Given the description of an element on the screen output the (x, y) to click on. 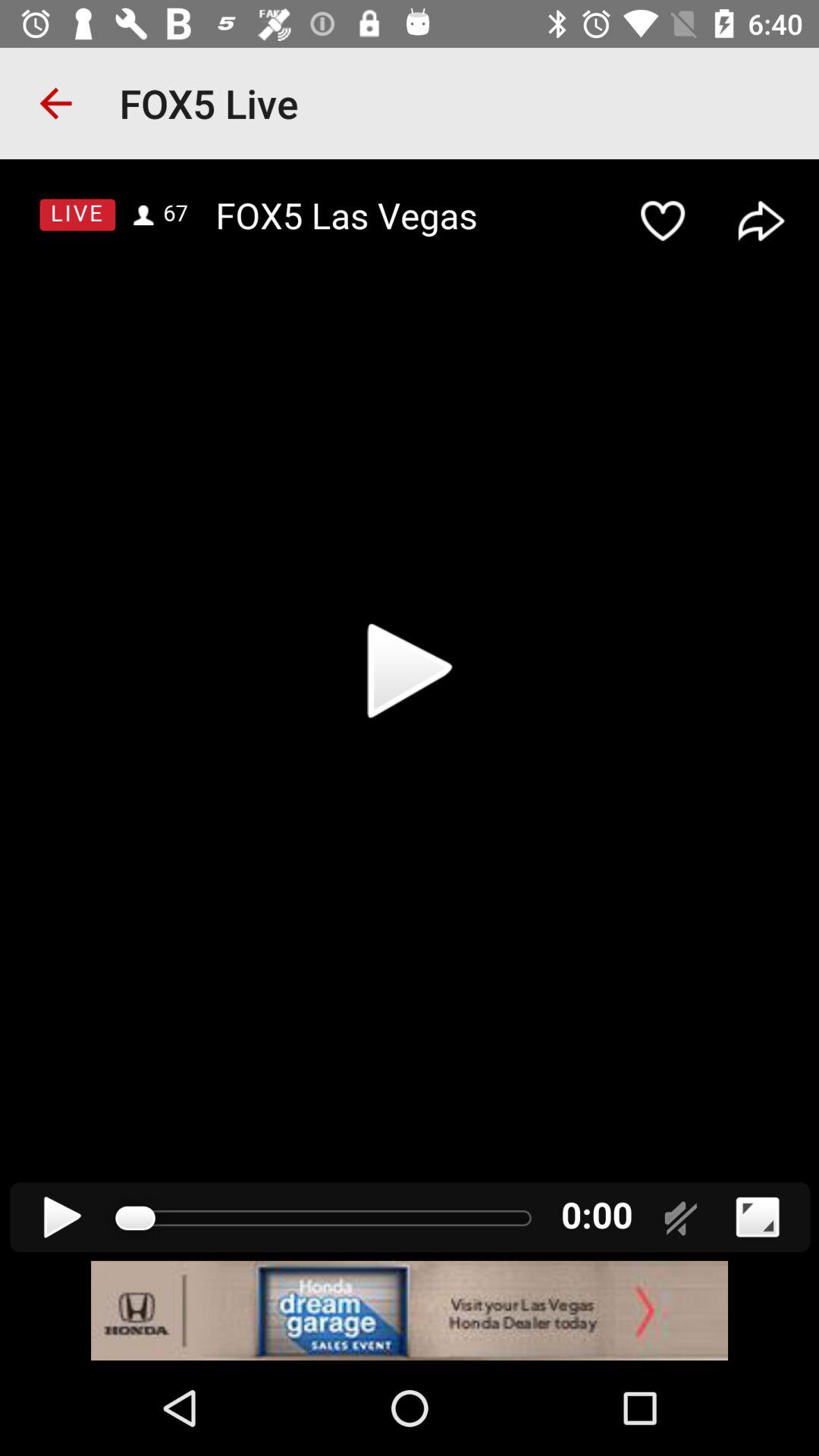
play the video (409, 709)
